Given the description of an element on the screen output the (x, y) to click on. 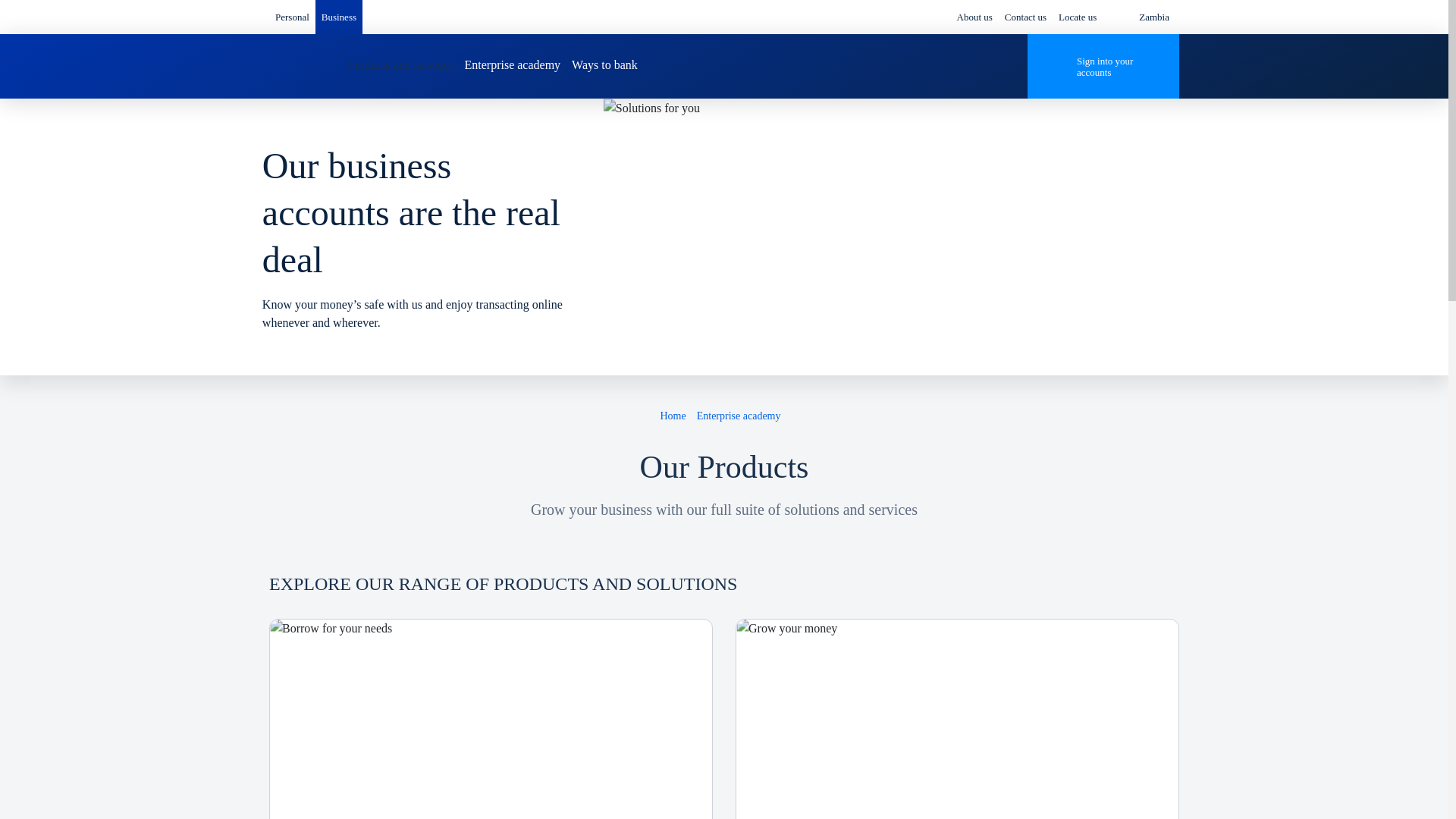
Contact us (1025, 17)
About us (974, 17)
Personal (291, 17)
Products and services (399, 65)
Business (338, 17)
Locate us (1077, 17)
